Given the description of an element on the screen output the (x, y) to click on. 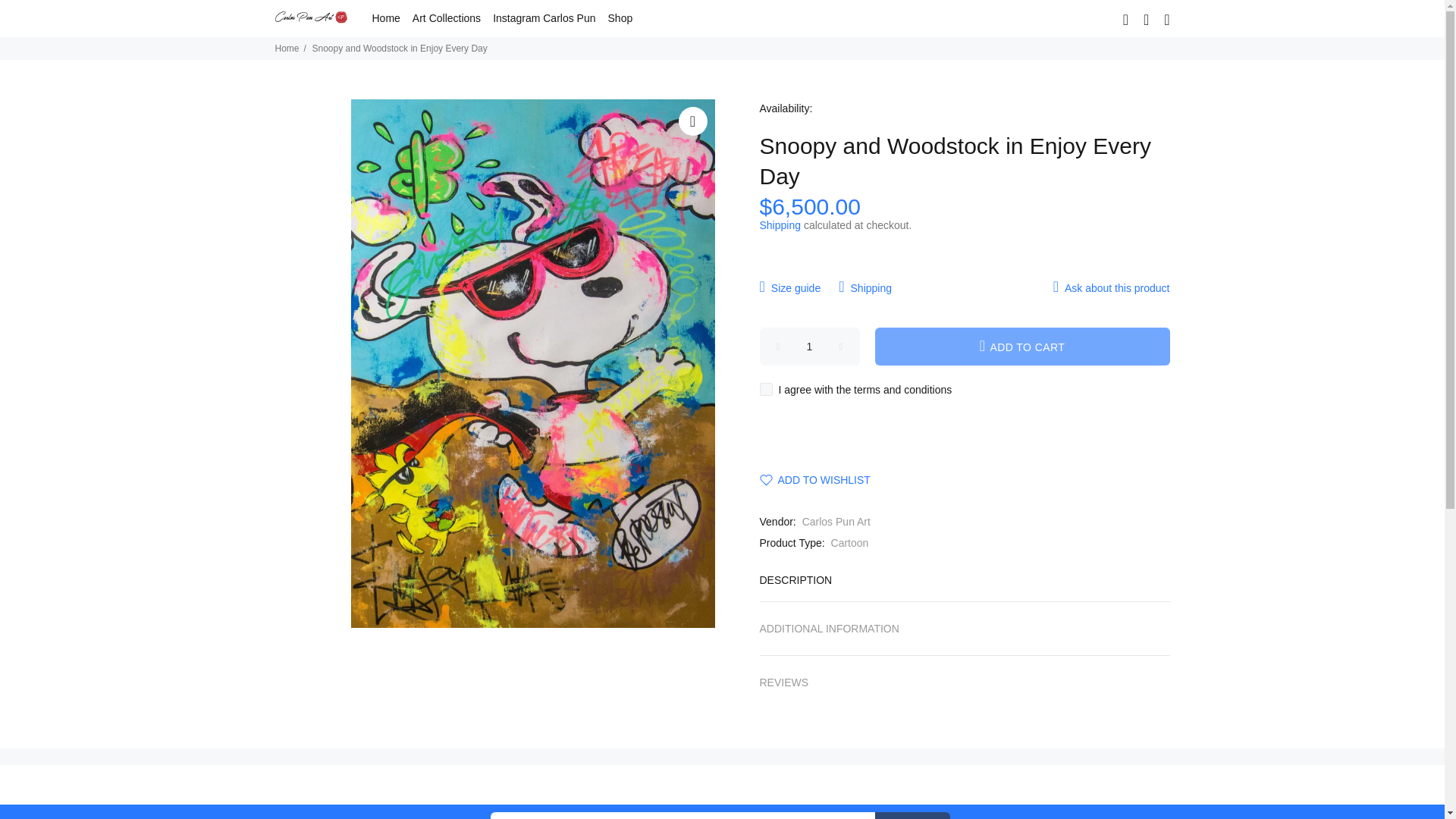
Home (384, 18)
Instagram Carlos Pun (543, 18)
Home (286, 48)
1 (810, 346)
Shop (617, 18)
Art Collections (446, 18)
